Given the description of an element on the screen output the (x, y) to click on. 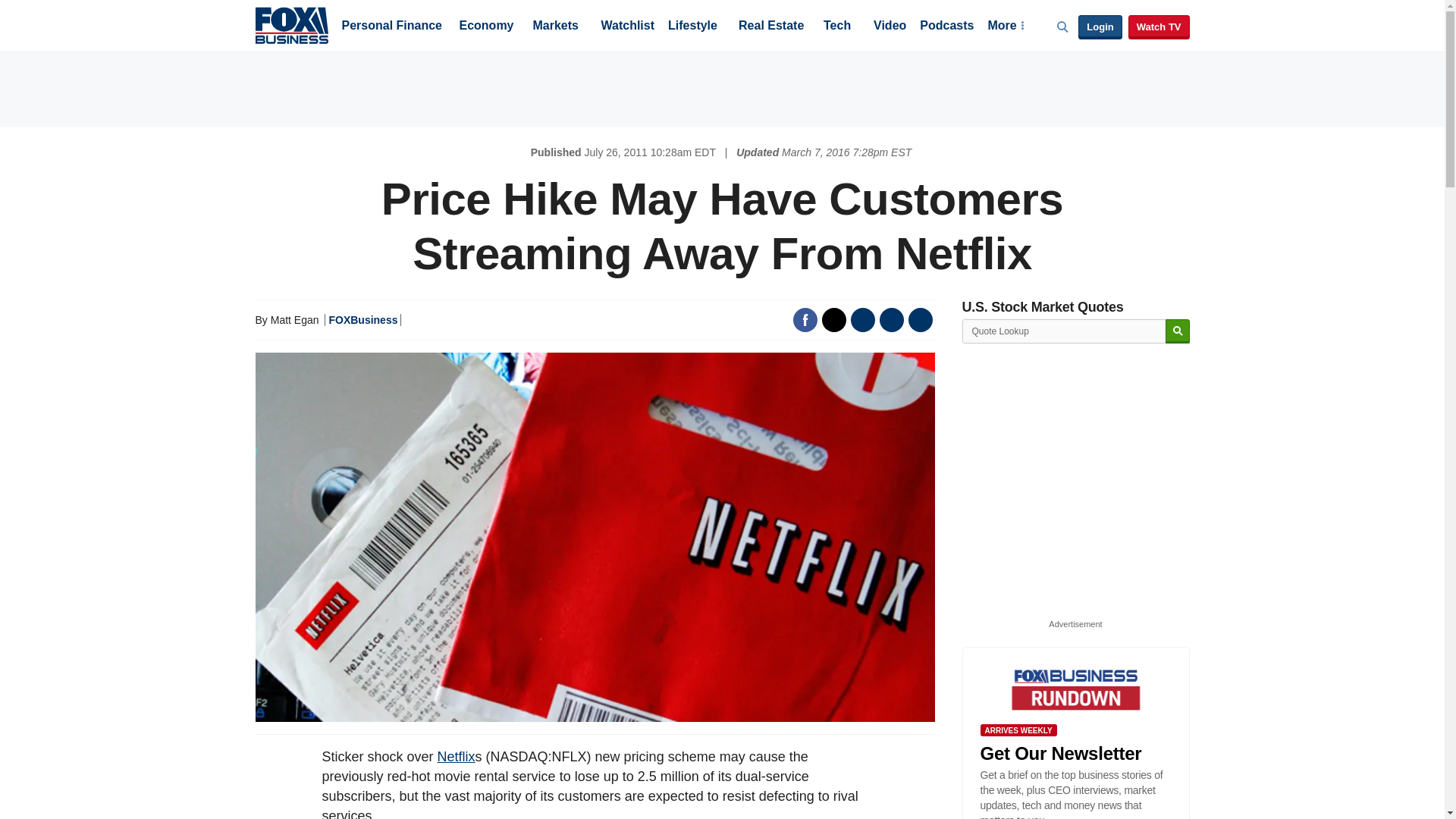
Login (1099, 27)
Markets (555, 27)
Search (1176, 331)
Tech (837, 27)
More (1005, 27)
Personal Finance (391, 27)
Watchlist (626, 27)
Fox Business (290, 24)
Lifestyle (692, 27)
Watch TV (1158, 27)
